Given the description of an element on the screen output the (x, y) to click on. 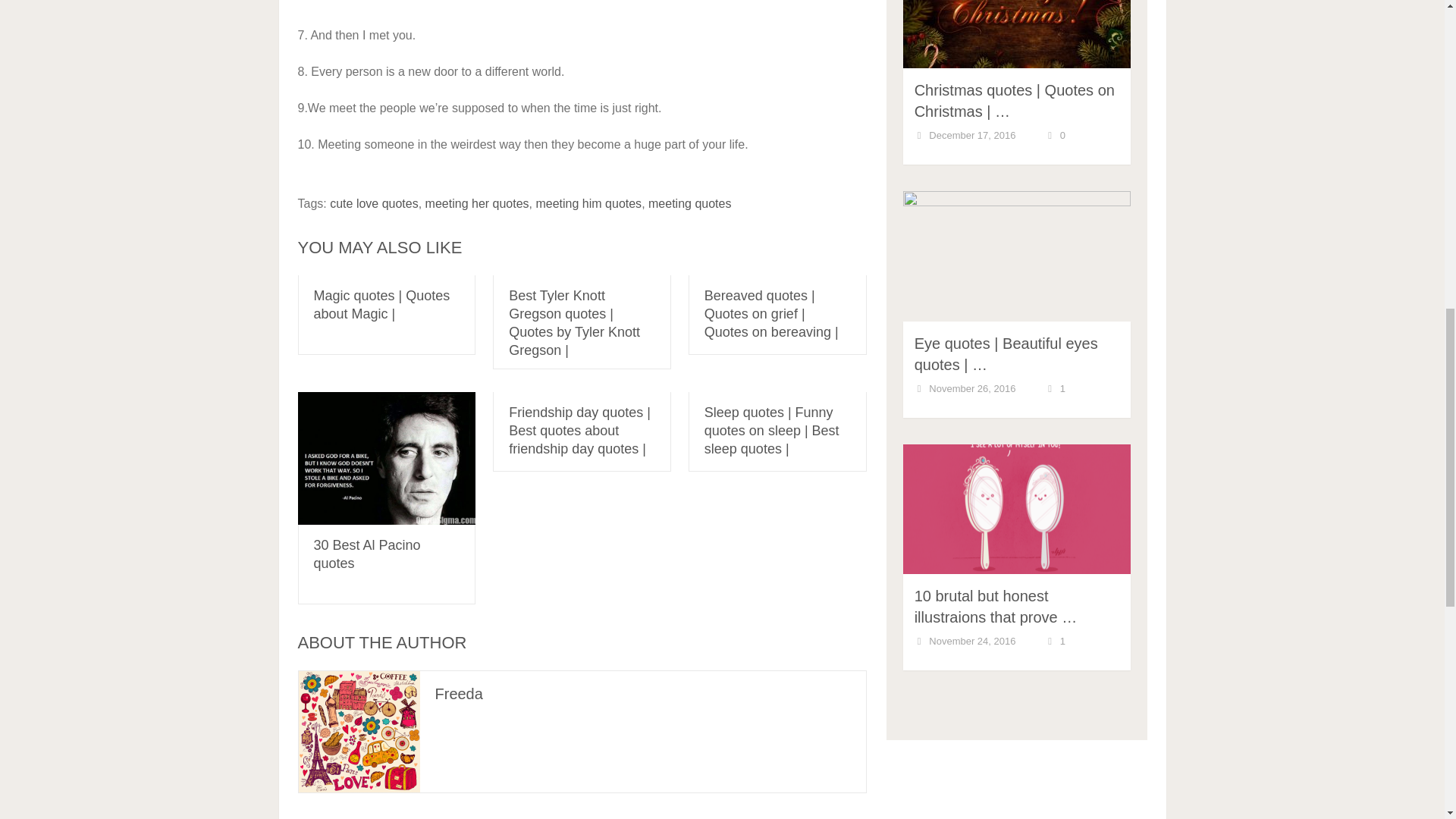
30 Best Al Pacino quotes (386, 458)
Freeda (459, 693)
meeting quotes (688, 203)
cute love quotes (374, 203)
meeting him quotes (588, 203)
30 Best Al Pacino quotes (367, 553)
meeting her quotes (477, 203)
